Given the description of an element on the screen output the (x, y) to click on. 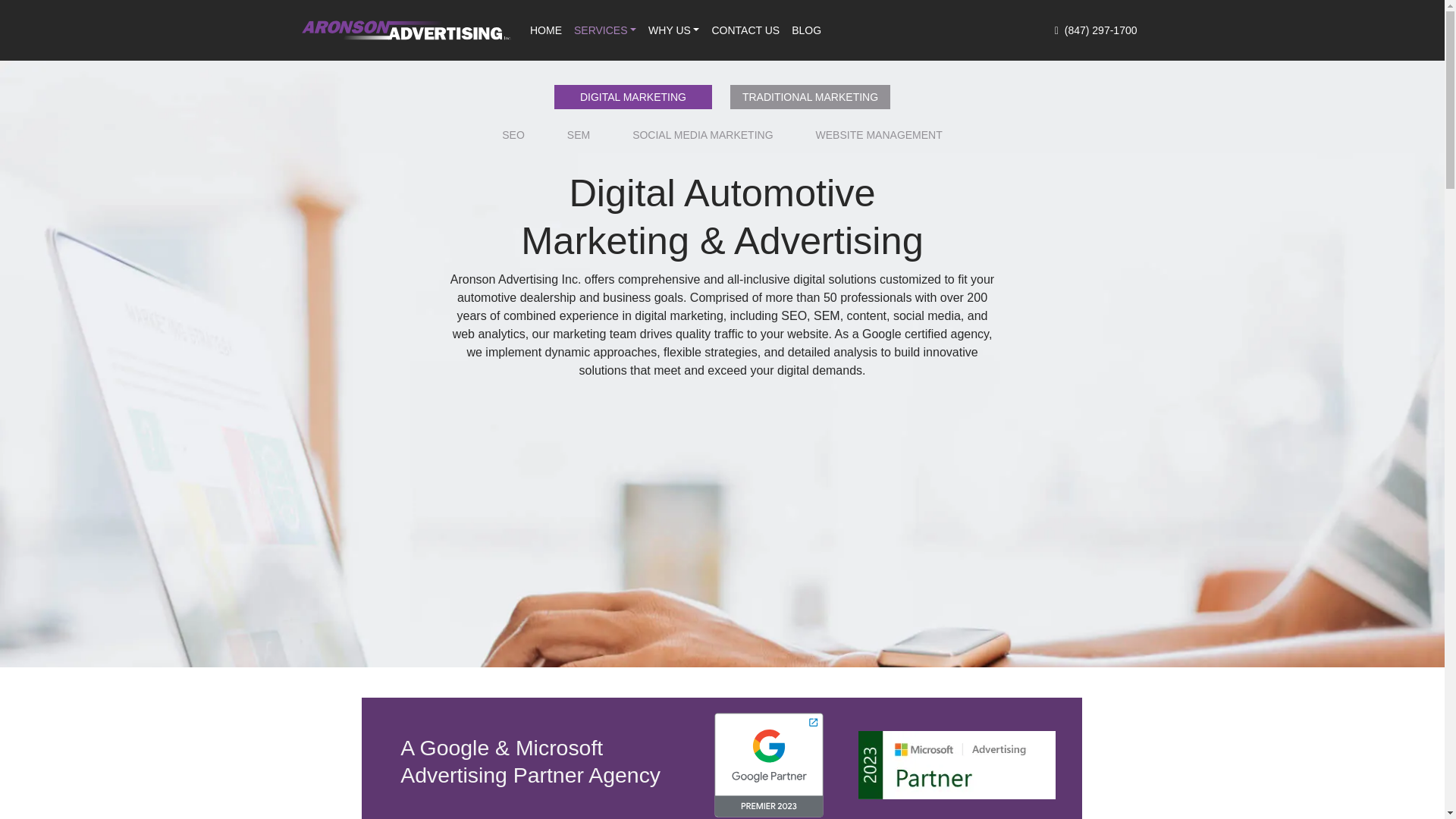
TRADITIONAL MARKETING (809, 96)
Contact Us (745, 30)
Home (545, 30)
Why Us (673, 30)
SOCIAL MEDIA MARKETING (702, 138)
CONTACT US (745, 30)
SEO (513, 138)
Services (604, 30)
SEM (578, 138)
SERVICES (604, 30)
